Given the description of an element on the screen output the (x, y) to click on. 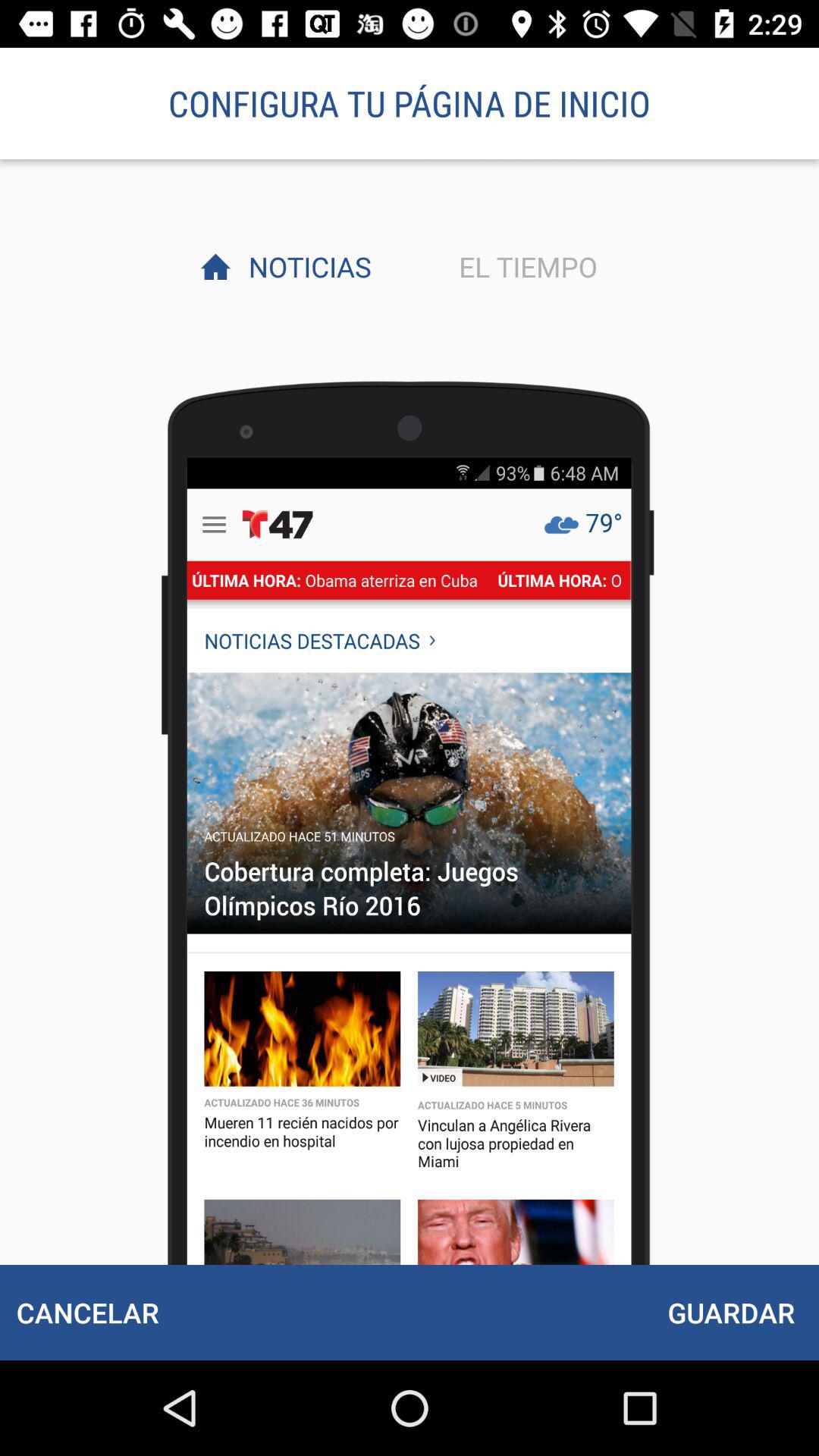
tap the icon to the right of the noticias item (524, 266)
